Given the description of an element on the screen output the (x, y) to click on. 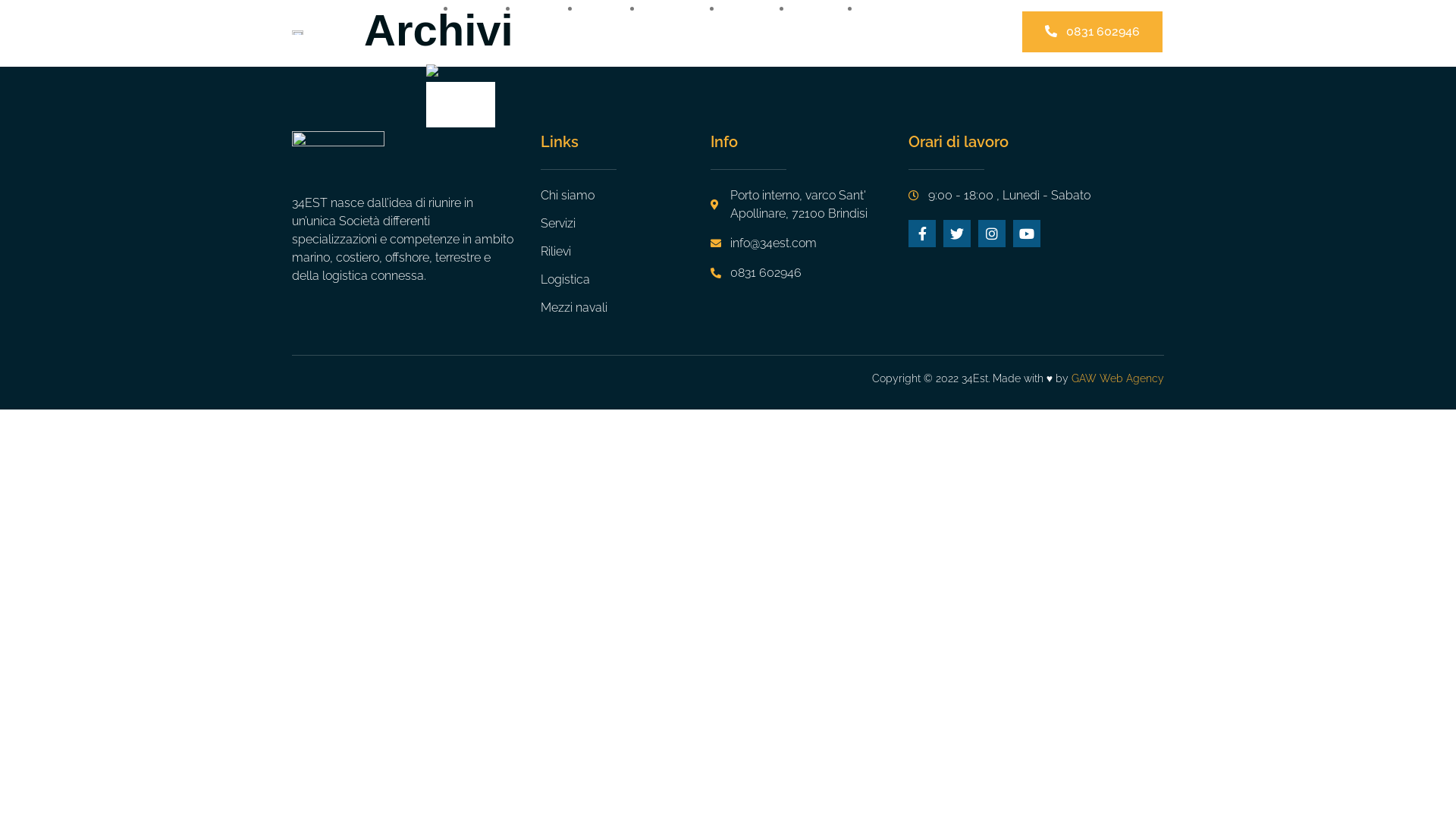
Contatti Element type: text (897, 9)
Gallery Element type: text (826, 9)
Chi siamo Element type: text (625, 195)
Mezzi navali Element type: text (625, 307)
Chi siamo Element type: text (549, 18)
GAW Web Agency Element type: text (1117, 378)
0831 602946 Element type: text (809, 272)
0831 602946 Element type: text (1092, 31)
Rilievi Element type: text (625, 251)
Rilievi Element type: text (611, 9)
Home Element type: text (487, 9)
Logistica Element type: text (682, 9)
info@34est.com Element type: text (809, 243)
Servizi Element type: text (625, 223)
Mezzi Navali Element type: text (757, 18)
Logistica Element type: text (625, 279)
